Given the description of an element on the screen output the (x, y) to click on. 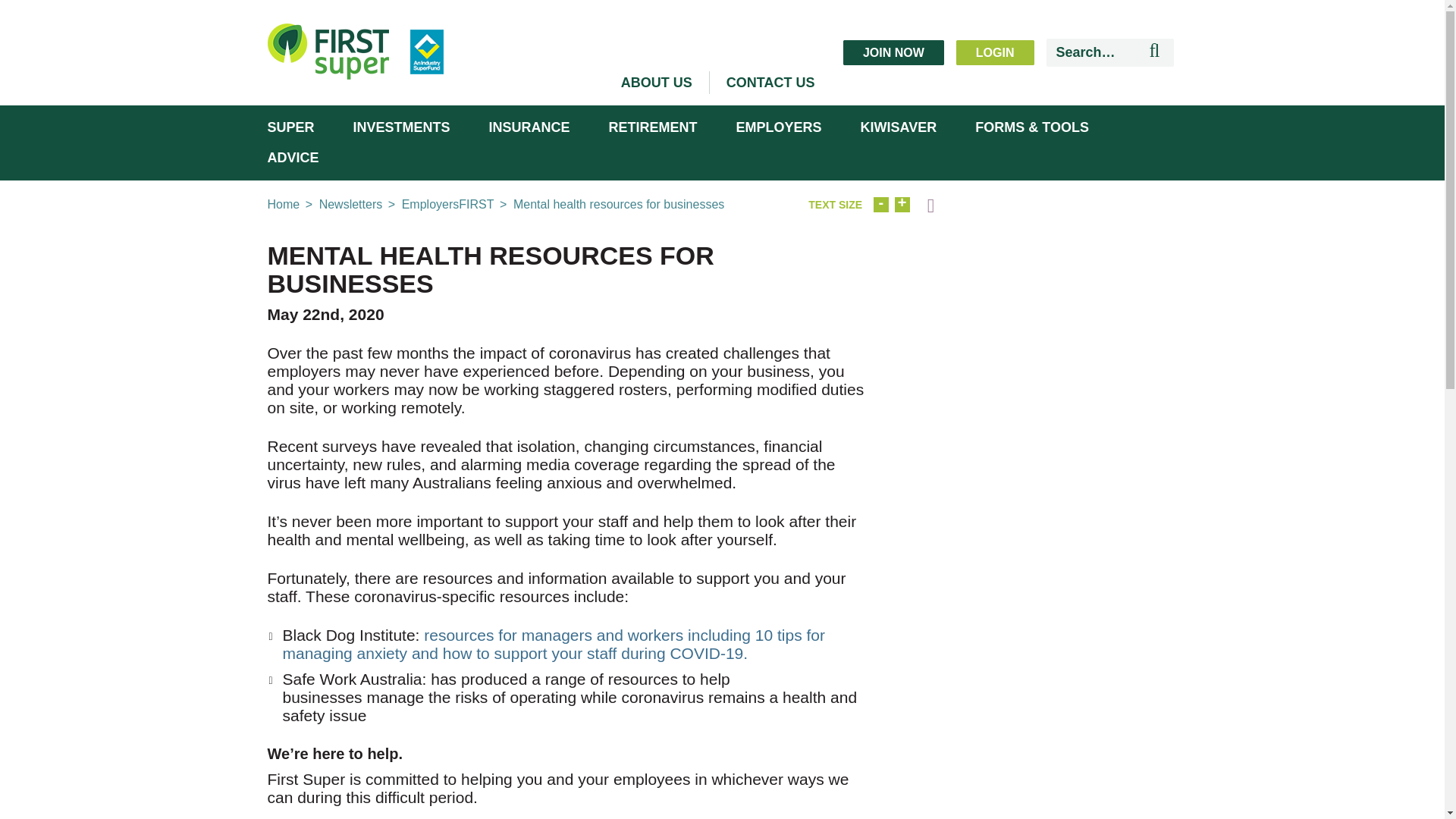
JOIN NOW (893, 52)
Click to login (994, 52)
Go to the Newsletters category archives. (350, 204)
Click to join First Super (893, 52)
Go to the EmployersFIRST category archives. (448, 204)
LOGIN (994, 52)
SUPER (290, 127)
INVESTMENTS (401, 127)
Go to First Super. (282, 204)
